Given the description of an element on the screen output the (x, y) to click on. 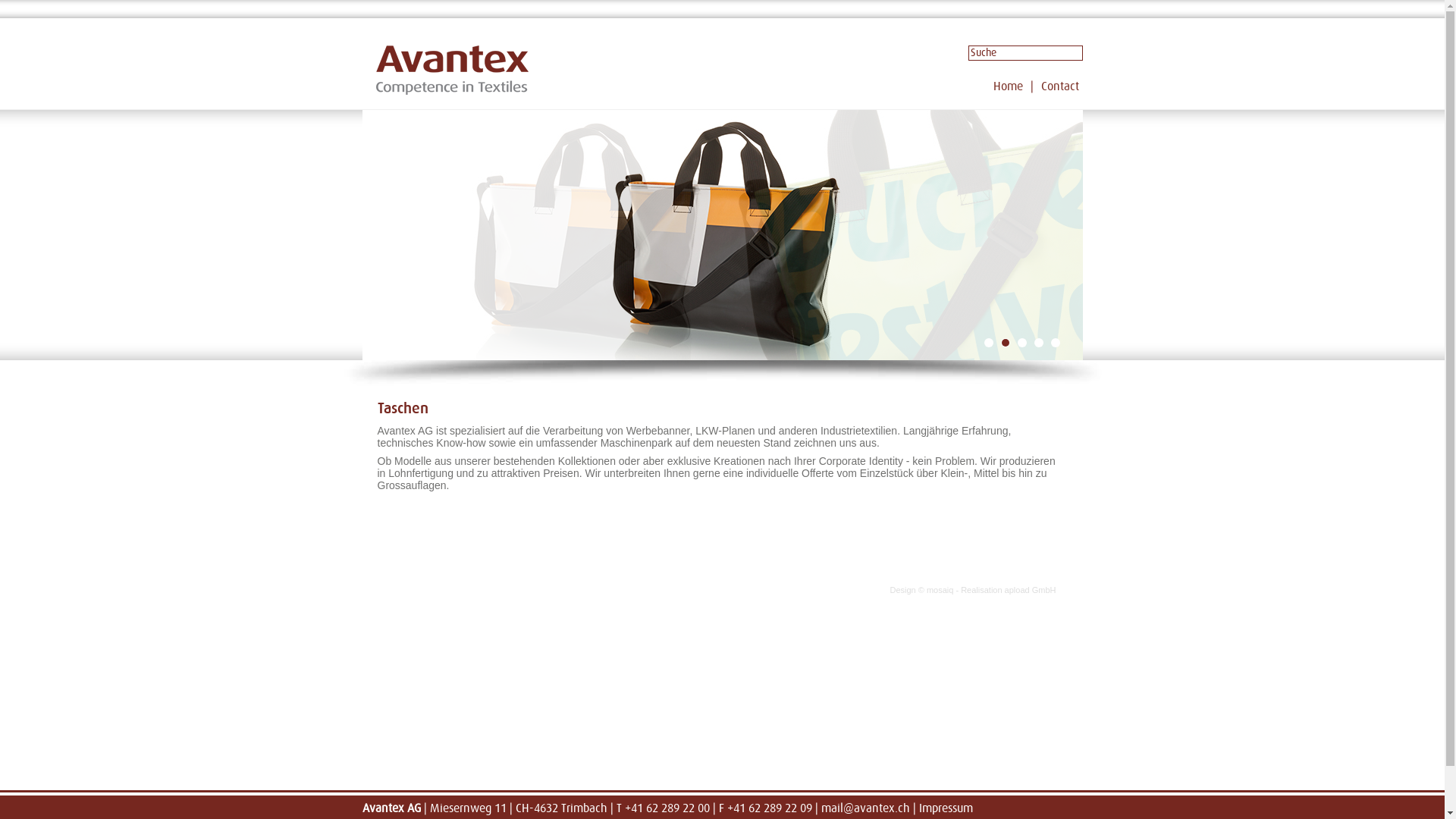
Home Element type: hover (452, 69)
Home Element type: text (1007, 86)
Impressum Element type: text (945, 808)
Contact Element type: text (1059, 86)
Realisation apload GmbH Element type: text (1007, 589)
mail@avantex.ch Element type: text (864, 808)
